Given the description of an element on the screen output the (x, y) to click on. 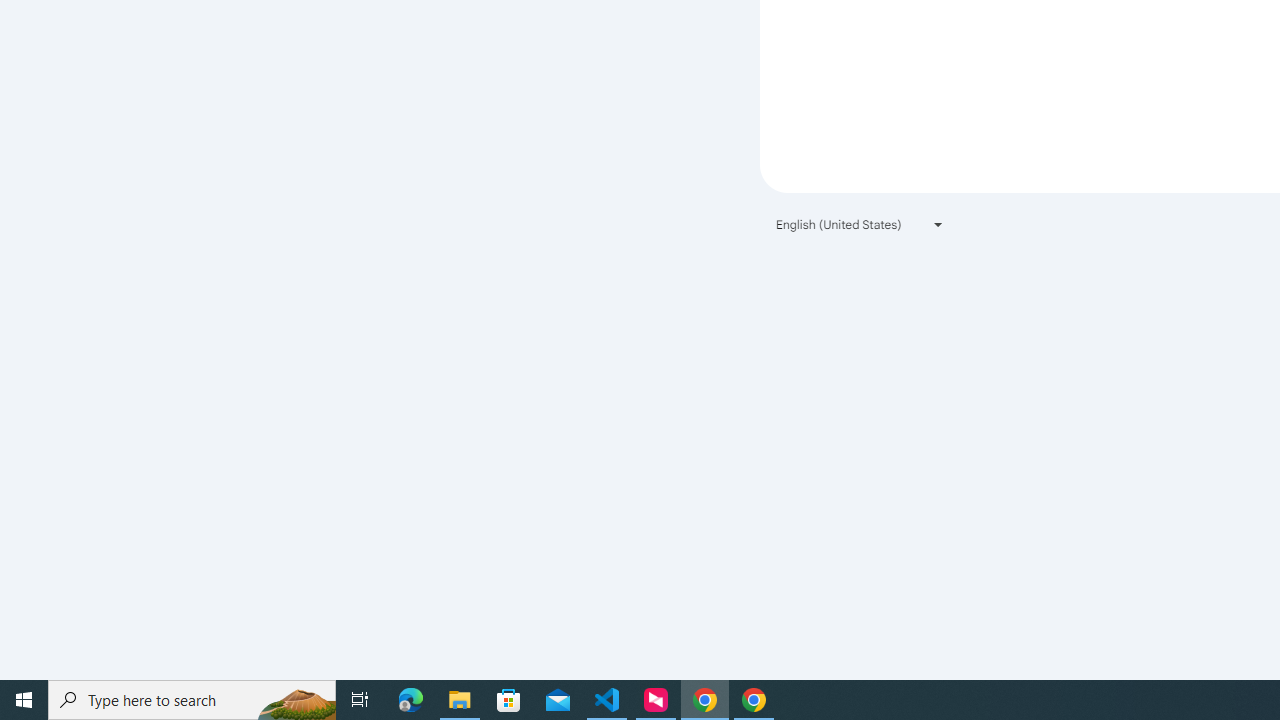
English (United States) (860, 224)
